Given the description of an element on the screen output the (x, y) to click on. 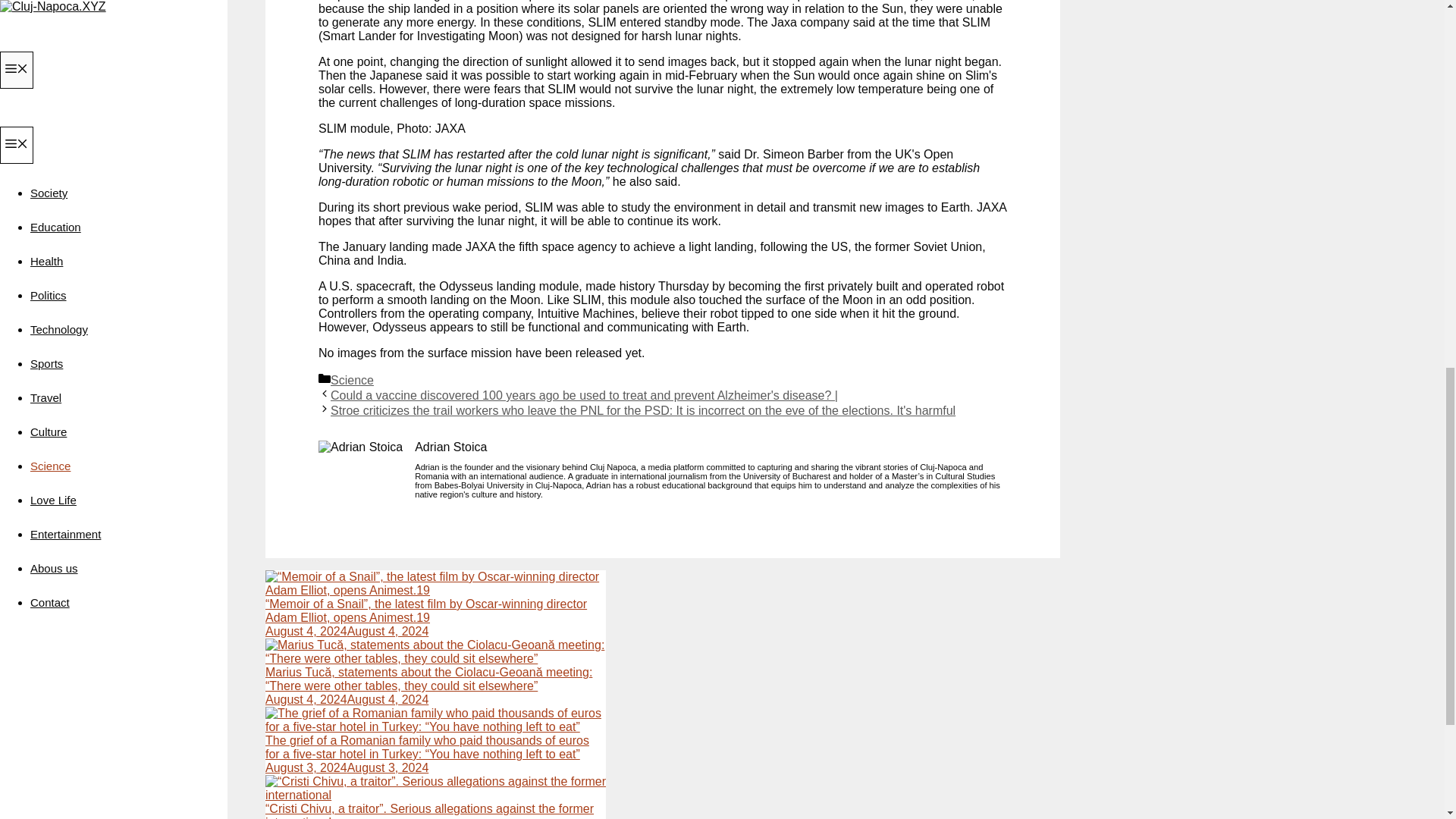
11:56 pm (346, 767)
Science (352, 379)
August 4, 2024August 4, 2024 (346, 631)
2:55 am (346, 631)
1:56 am (346, 698)
